Given the description of an element on the screen output the (x, y) to click on. 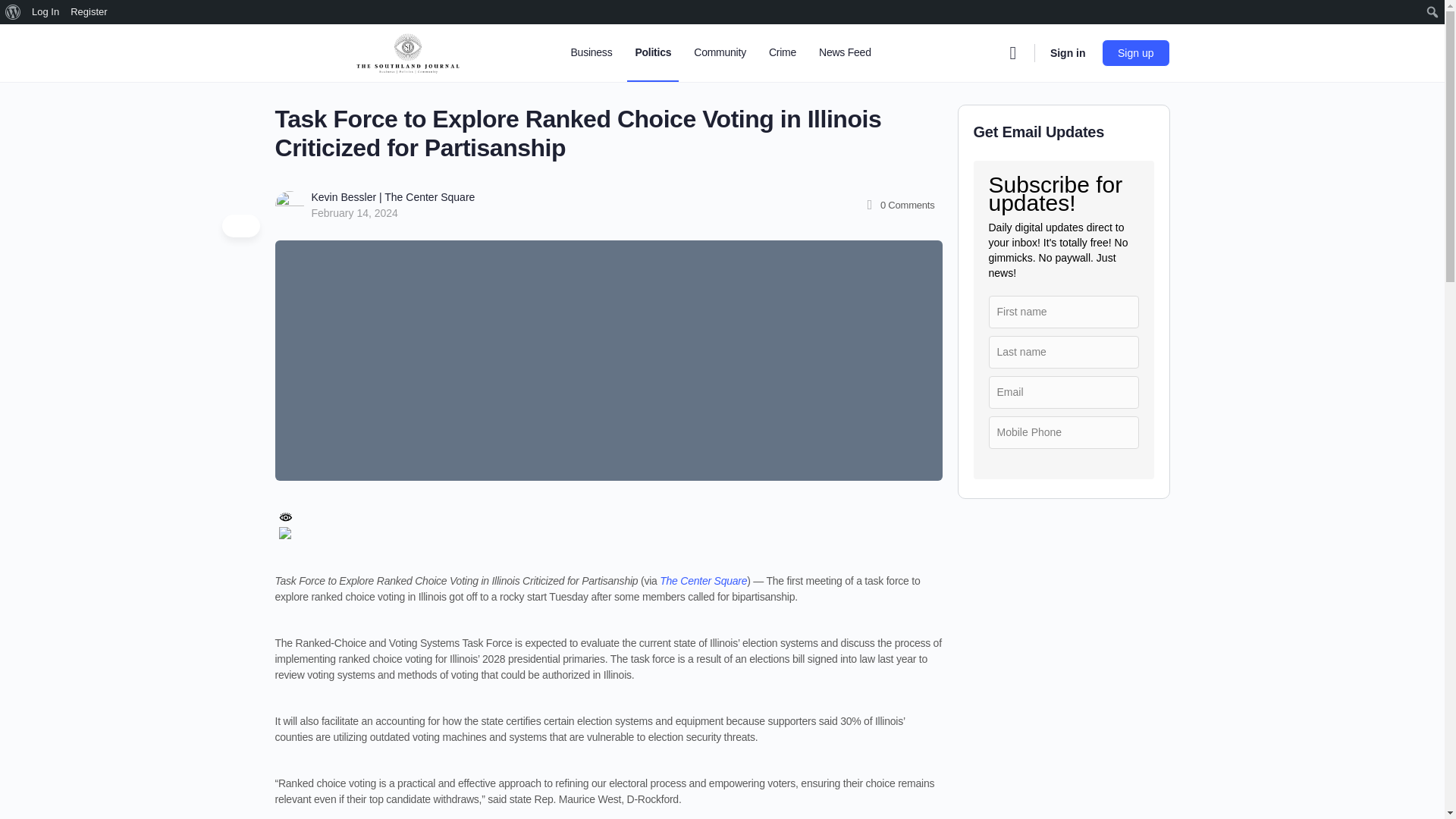
Search (16, 12)
News Feed (844, 52)
Business (591, 52)
Sign in (1067, 53)
February 14, 2024 (354, 213)
Log In (45, 12)
Register (89, 12)
Community (719, 52)
Politics (652, 52)
Sign up (1135, 52)
